Given the description of an element on the screen output the (x, y) to click on. 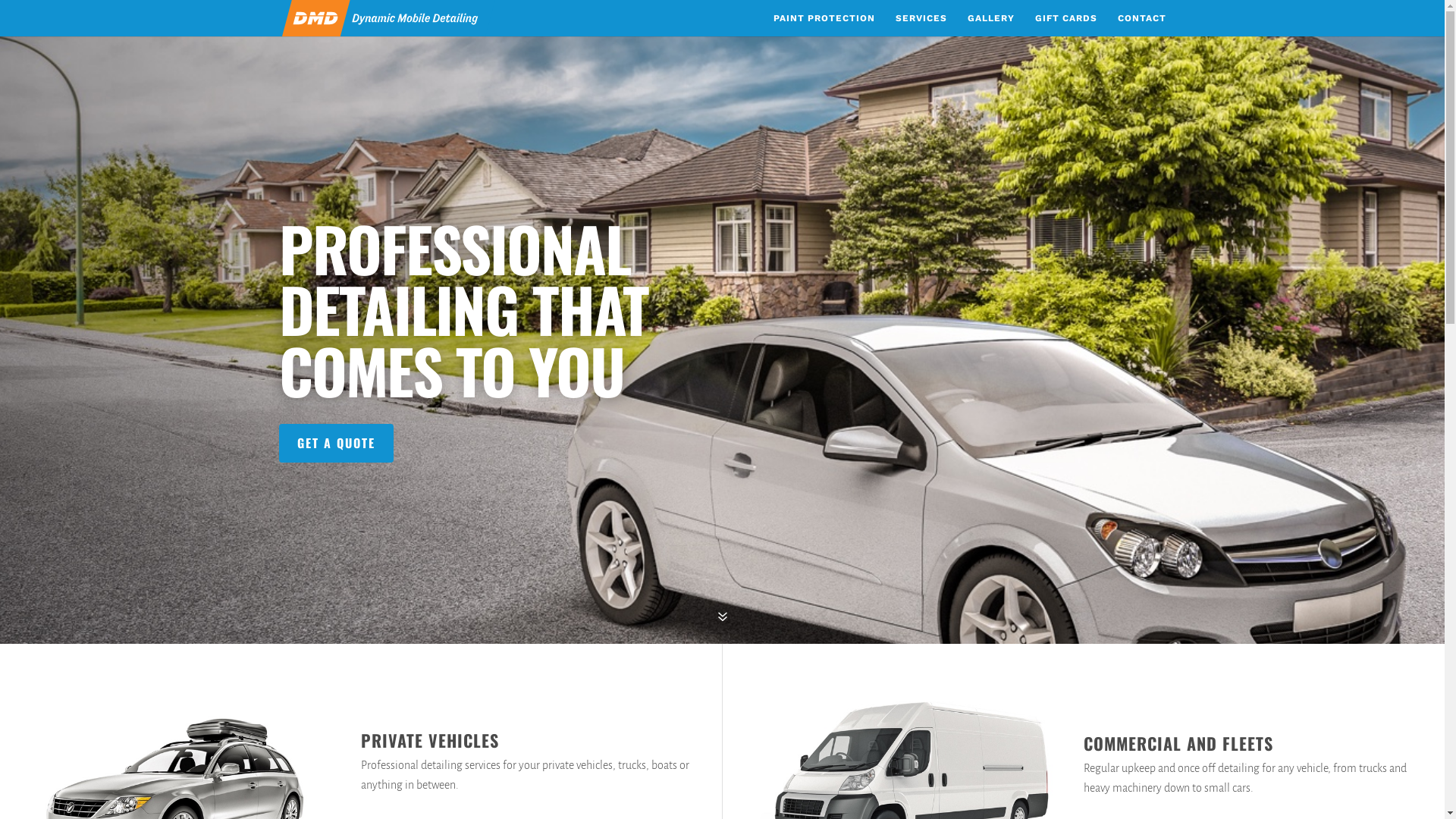
PAINT PROTECTION Element type: text (824, 24)
GET A QUOTE Element type: text (336, 442)
GIFT CARDS Element type: text (1065, 24)
CONTACT Element type: text (1141, 24)
GALLERY Element type: text (990, 24)
7 Element type: text (721, 617)
SERVICES Element type: text (920, 24)
